Given the description of an element on the screen output the (x, y) to click on. 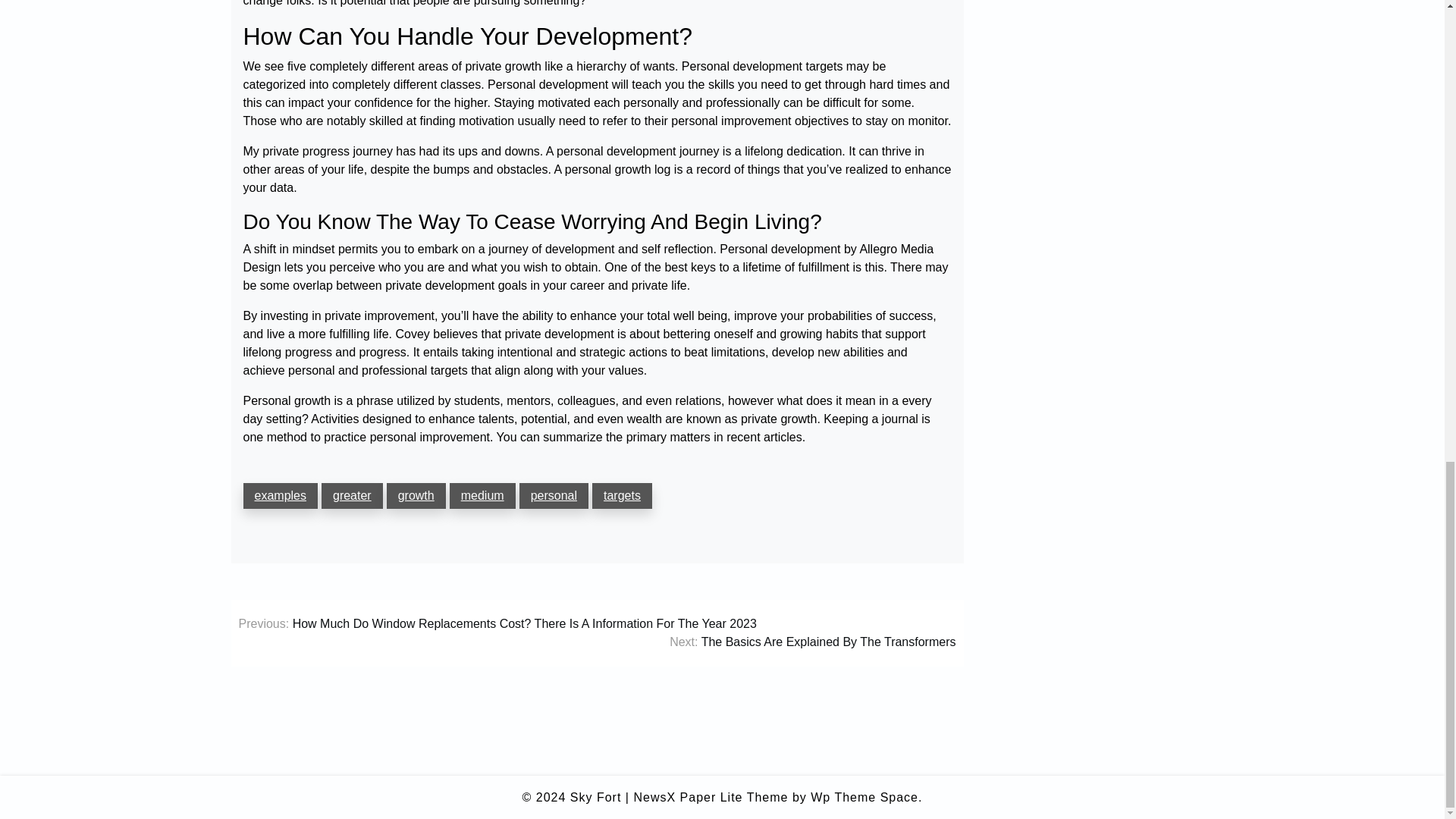
Next: The Basics Are Explained By The Transformers (812, 642)
personal (553, 495)
examples (280, 495)
growth (416, 495)
greater (351, 495)
NewsX Paper Lite Theme (710, 797)
medium (482, 495)
targets (622, 495)
Sky Fort (595, 797)
